Given the description of an element on the screen output the (x, y) to click on. 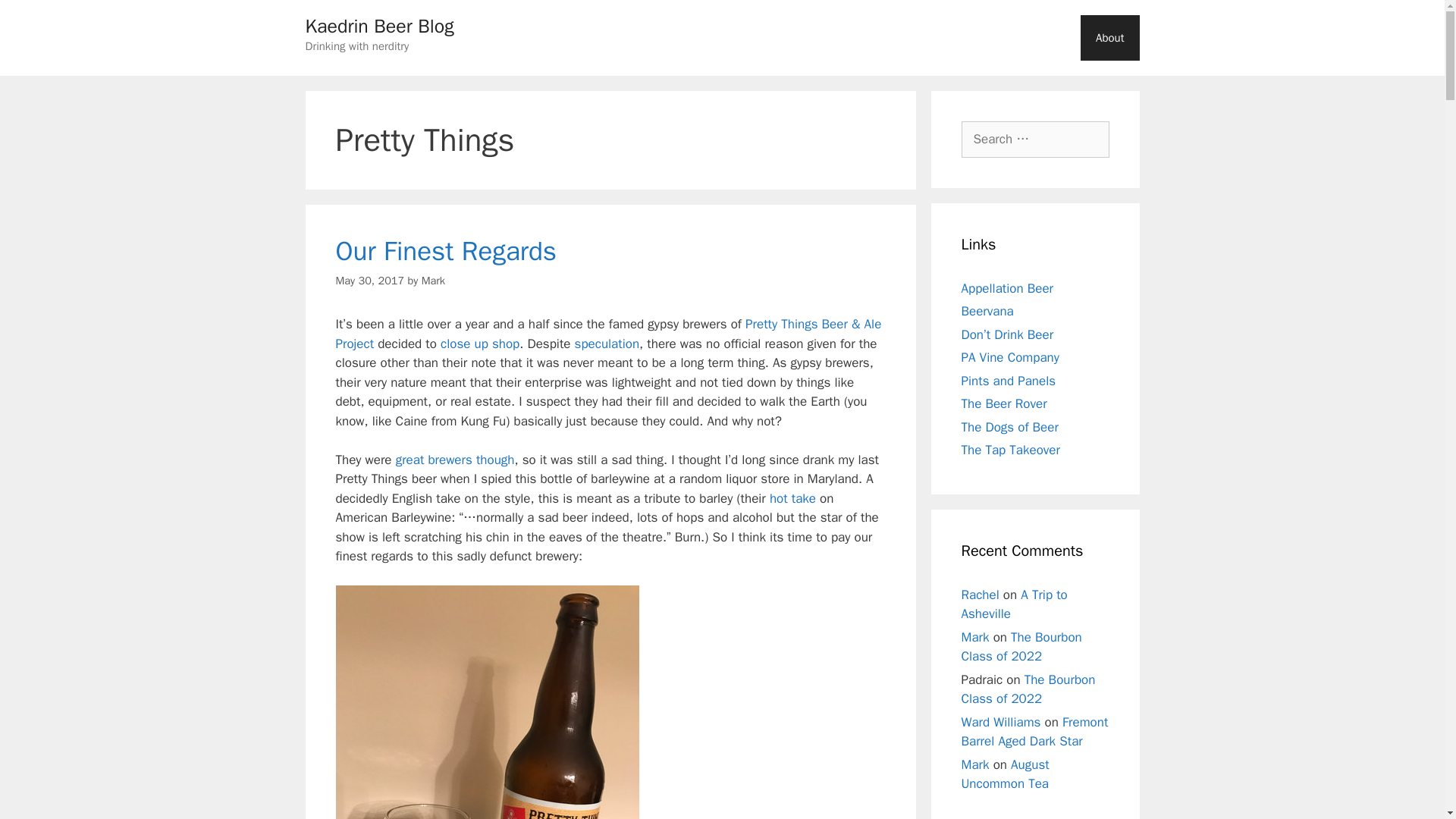
close up shop (480, 343)
Our Finest Regards (445, 250)
speculation (607, 343)
Kaedrin Beer Blog (378, 25)
hot take (792, 498)
About (1109, 37)
Mark (433, 280)
great brewers though (455, 459)
View all posts by Mark (433, 280)
Search for: (1034, 139)
